Given the description of an element on the screen output the (x, y) to click on. 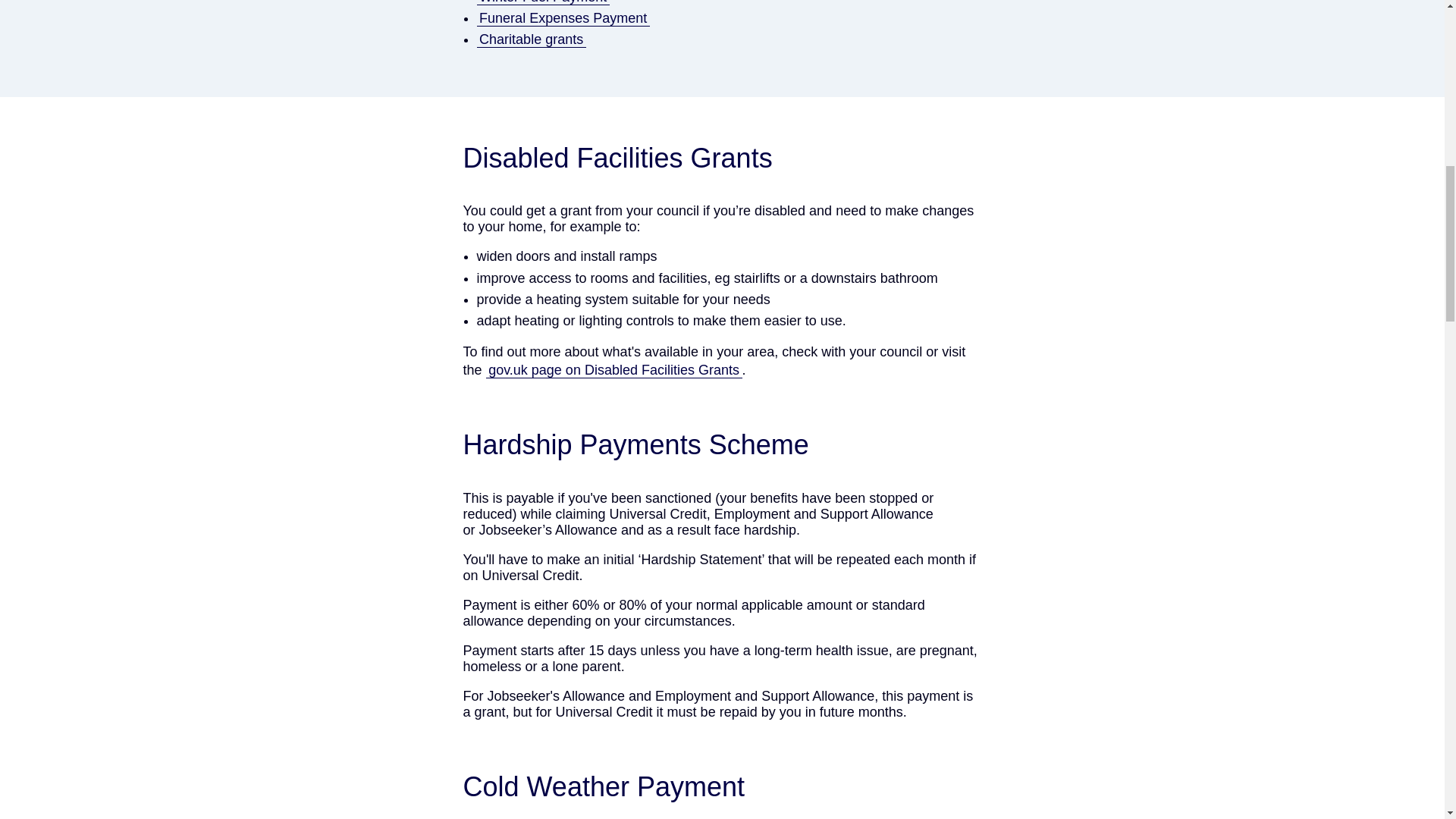
giv.uk website (614, 370)
